Given the description of an element on the screen output the (x, y) to click on. 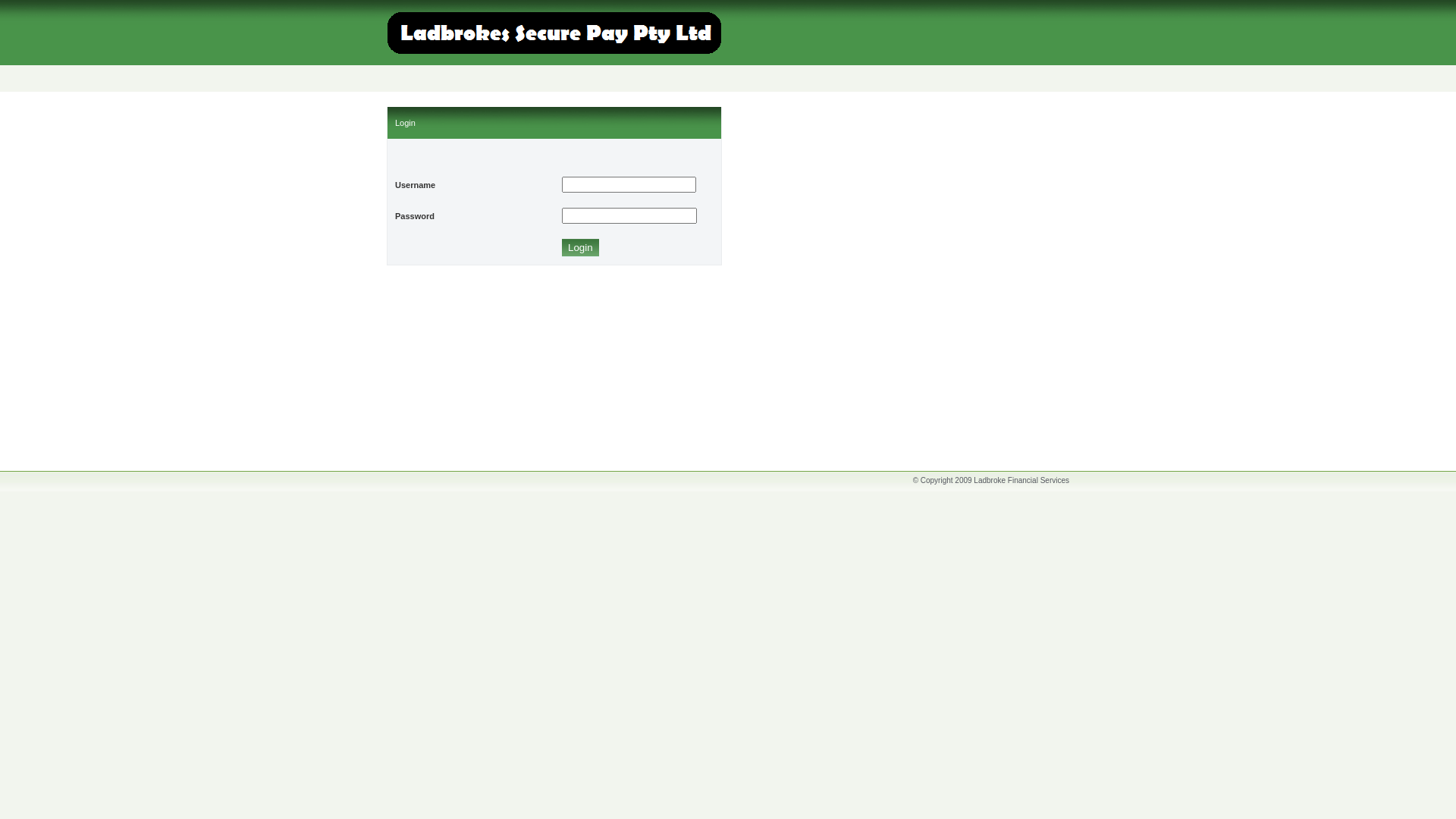
Login Element type: text (580, 247)
